Given the description of an element on the screen output the (x, y) to click on. 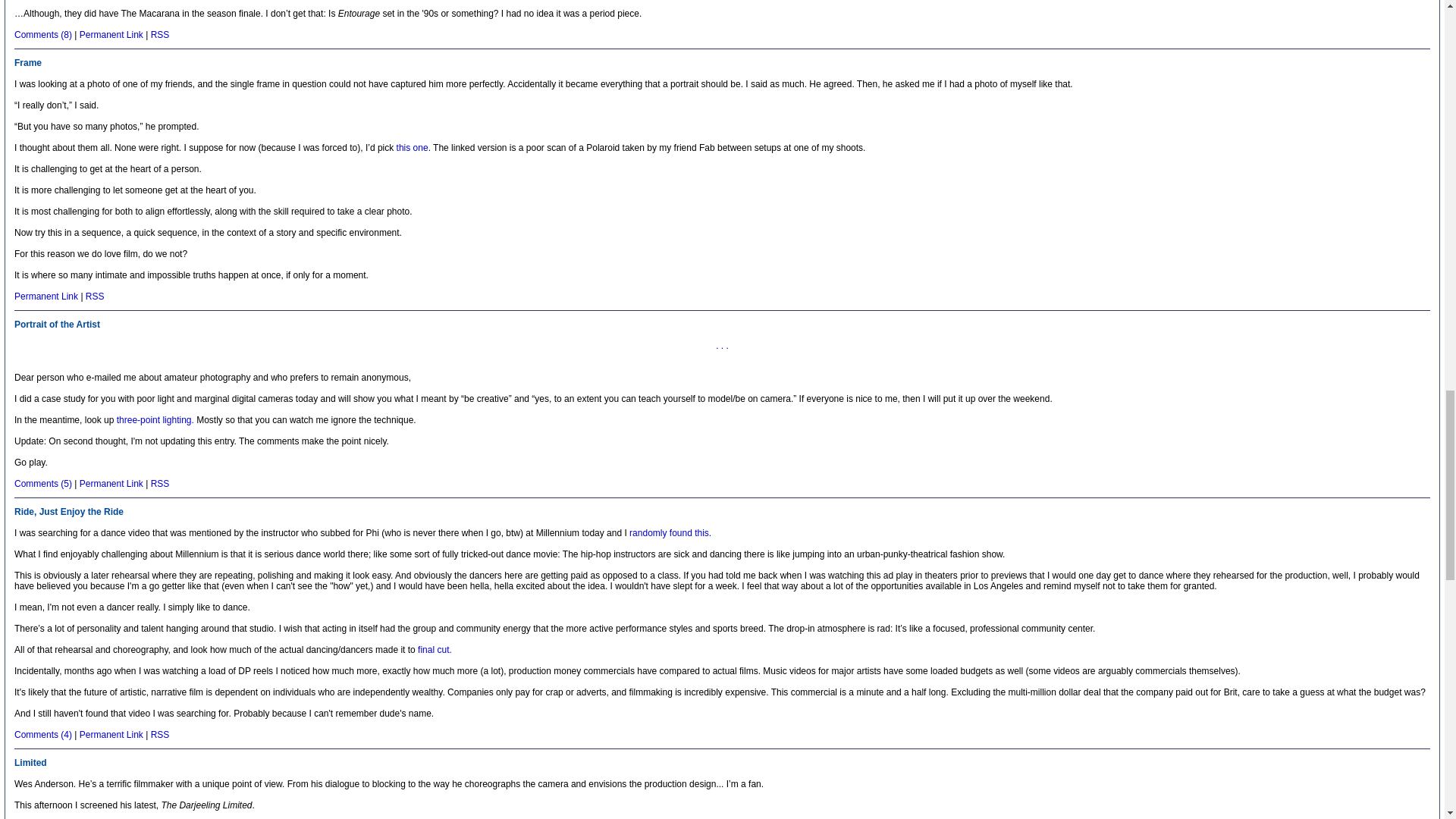
Permanent Link (111, 734)
RSS (160, 734)
. . . (722, 345)
RSS (160, 34)
Permanent Link (46, 296)
Permanent Link (111, 34)
Permanent Link (111, 483)
RSS (94, 296)
three-point lighting. (154, 419)
final cut. (434, 649)
